Given the description of an element on the screen output the (x, y) to click on. 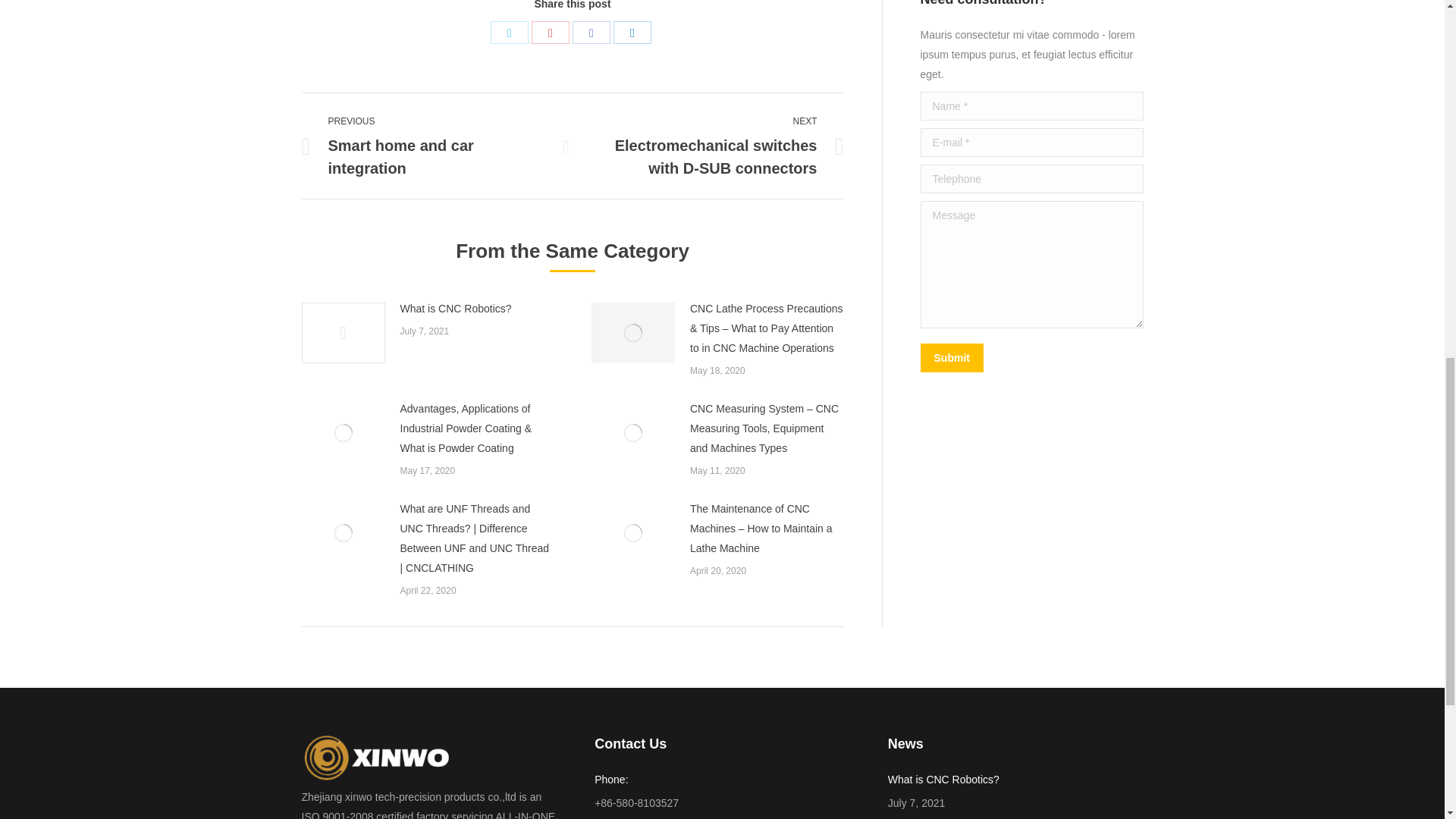
Facebook (591, 32)
Twitter (509, 32)
Pinterest (550, 32)
Share on LinkedIn (631, 32)
Share on Twitter (509, 32)
LinkedIn (631, 32)
submit (1024, 359)
Share on Facebook (591, 32)
Share on Pinterest (550, 32)
